Given the description of an element on the screen output the (x, y) to click on. 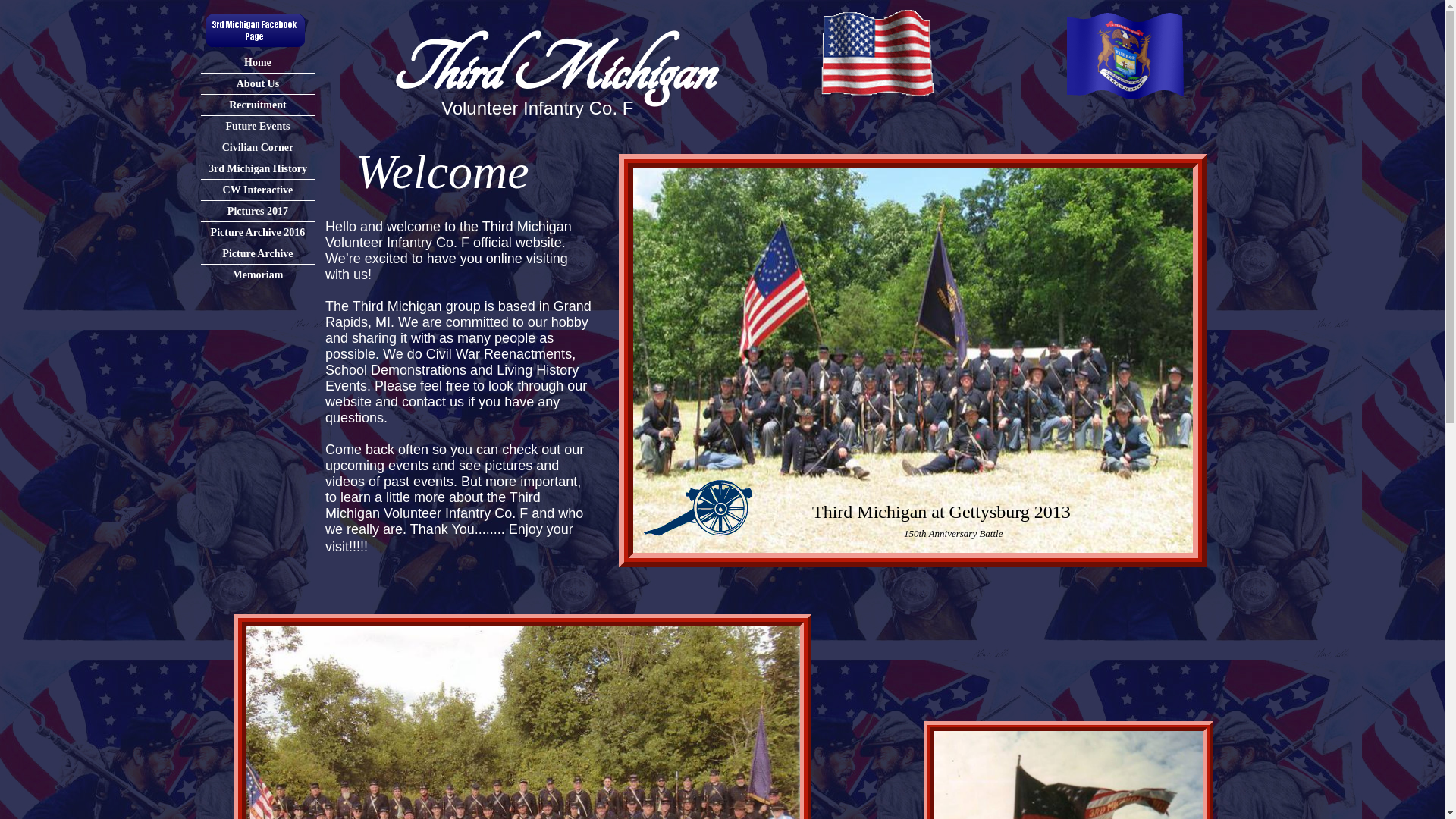
About Us Element type: text (257, 83)
Future Events Element type: text (257, 126)
CW Interactive Element type: text (257, 189)
Picture Archive Element type: text (257, 253)
Pictures 2017 Element type: text (257, 210)
Picture Archive 2016 Element type: text (257, 232)
Memoriam Element type: text (257, 274)
Civilian Corner Element type: text (257, 147)
Home Element type: text (257, 62)
Recruitment Element type: text (257, 104)
3rd MI FB Element type: hover (254, 30)
3rd Michigan History Element type: text (257, 168)
